Given the description of an element on the screen output the (x, y) to click on. 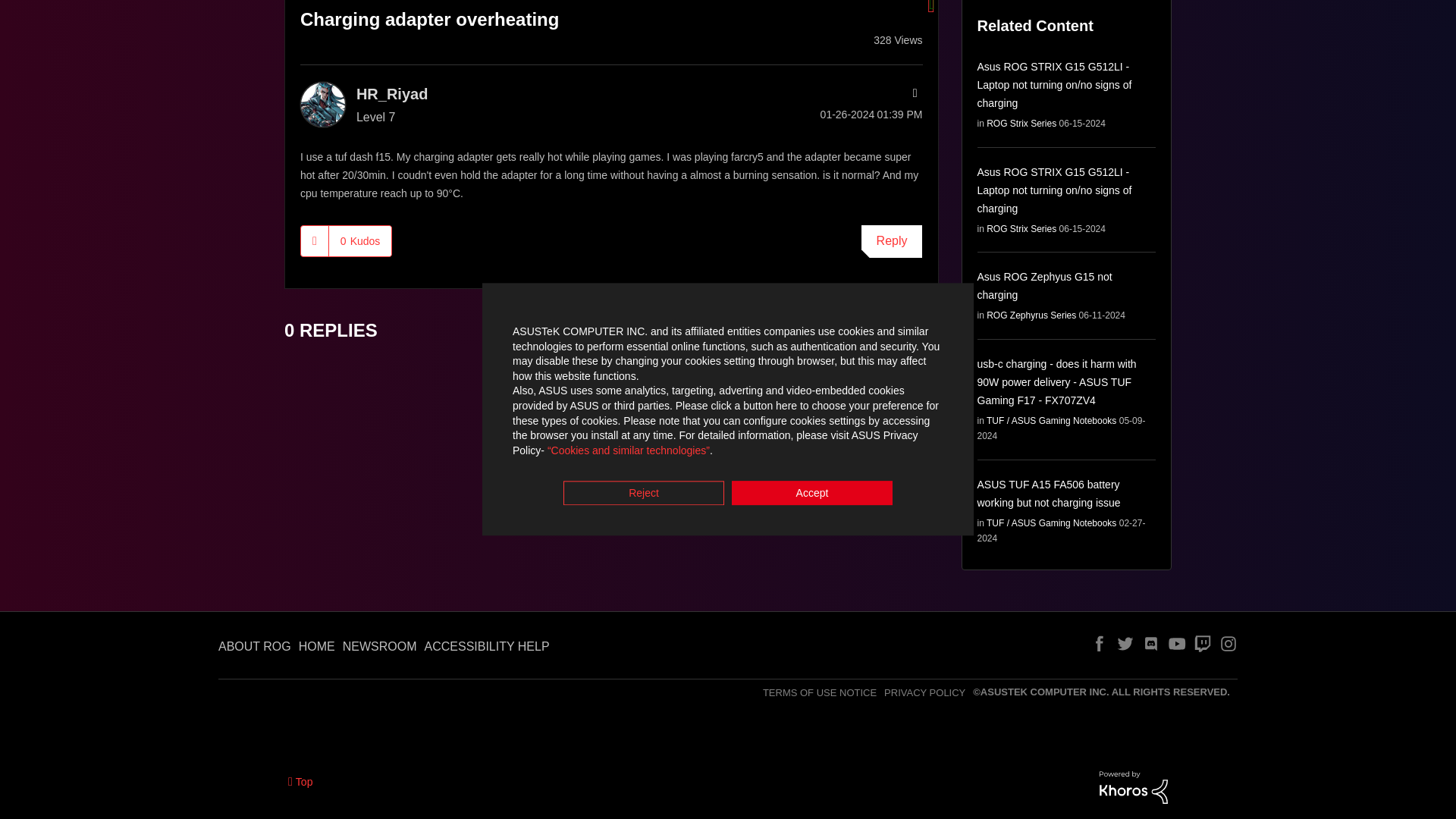
The total number of kudos this post has received. (360, 241)
Click here to give kudos to this post. (315, 241)
TUF FX507ZC UPDATE BIOS 318 PROBLEM (898, 321)
